Given the description of an element on the screen output the (x, y) to click on. 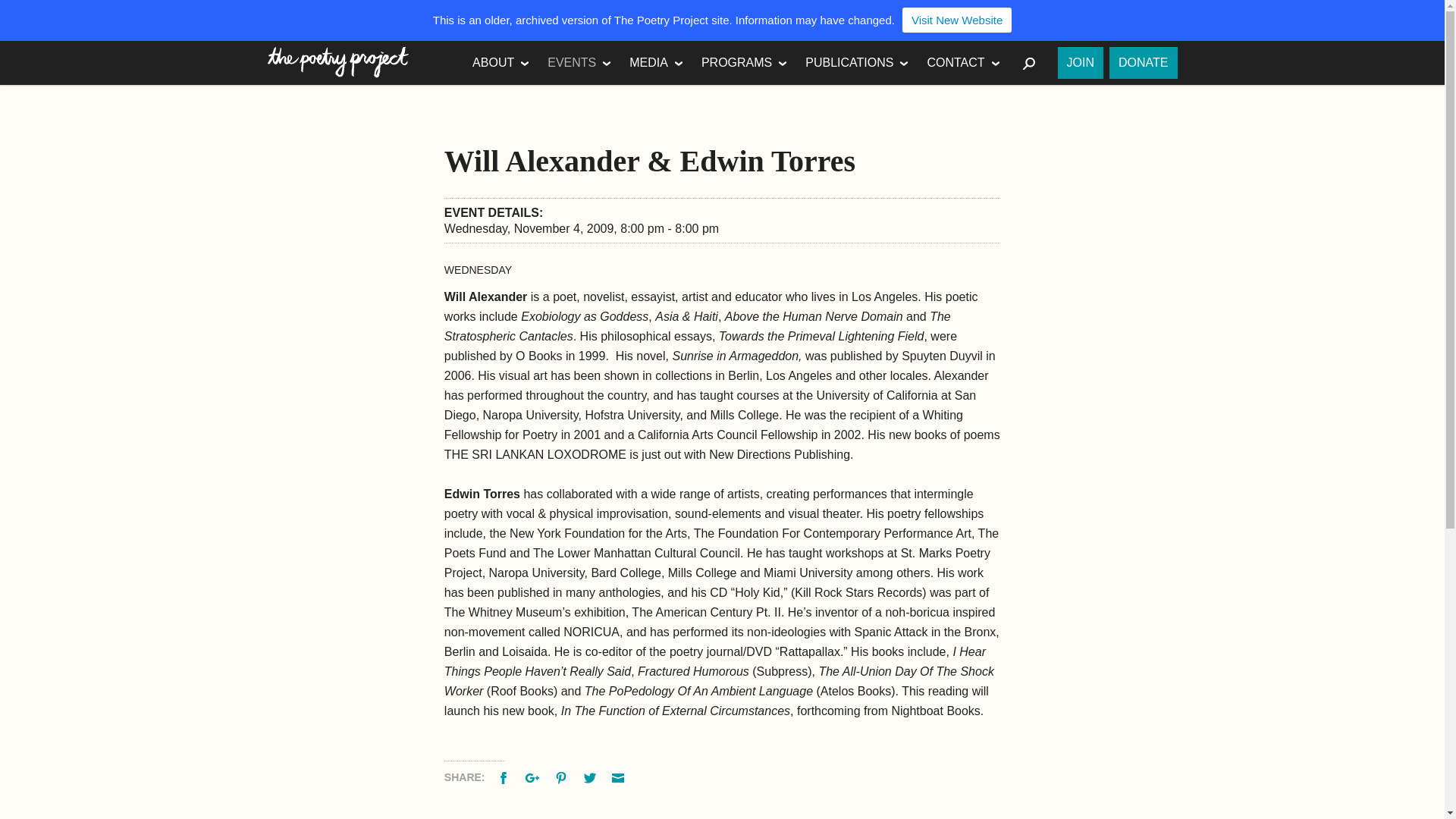
PUBLICATIONS (856, 62)
ABOUT (500, 62)
Facebook (504, 776)
PROGRAMS (744, 62)
DONATE (1142, 62)
EVENTS (579, 62)
JOIN (1080, 62)
SEARCH (1030, 62)
Pinterest (562, 776)
MEDIA (656, 62)
